Given the description of an element on the screen output the (x, y) to click on. 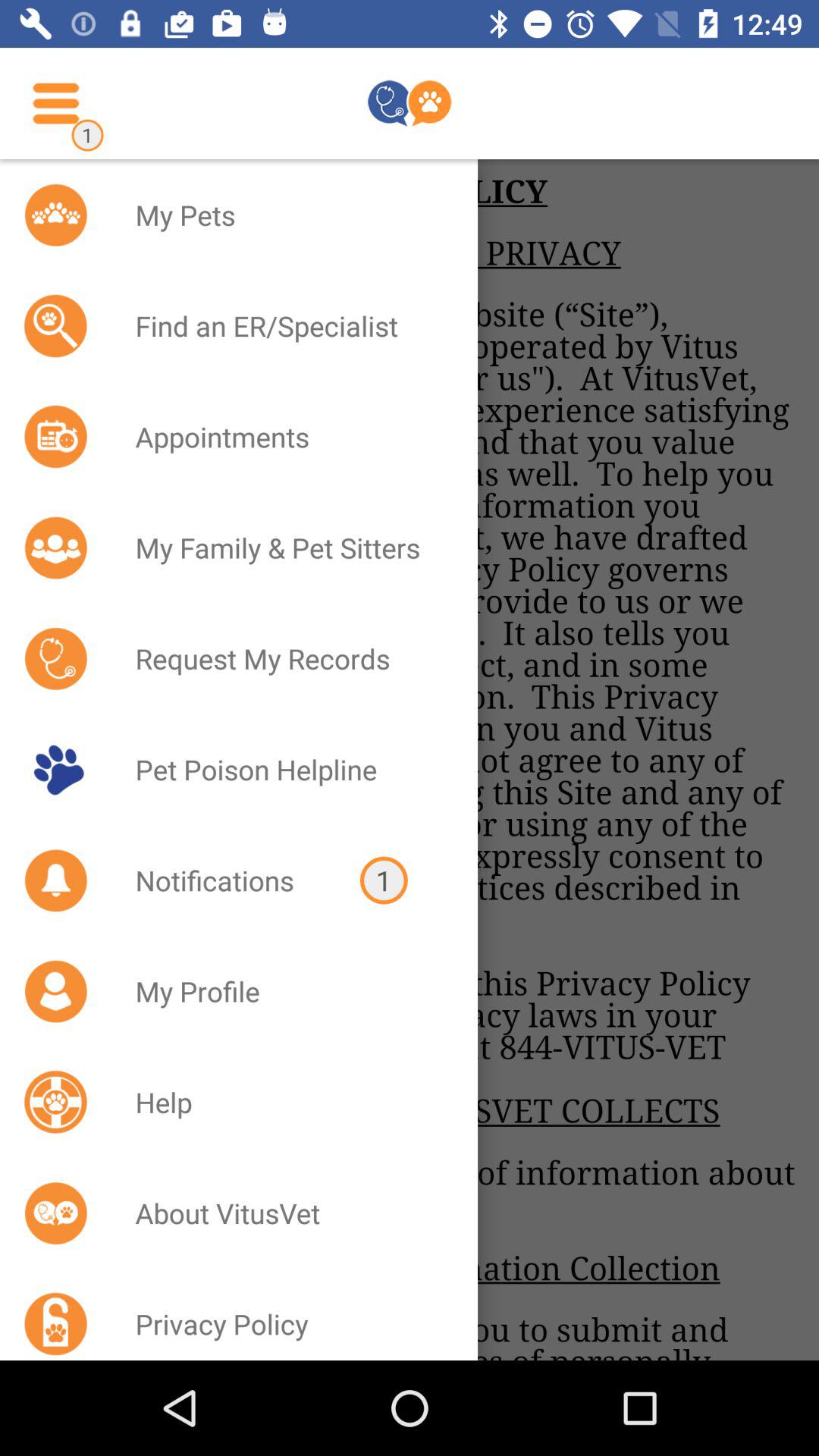
turn on item above the my profile item (383, 880)
